Given the description of an element on the screen output the (x, y) to click on. 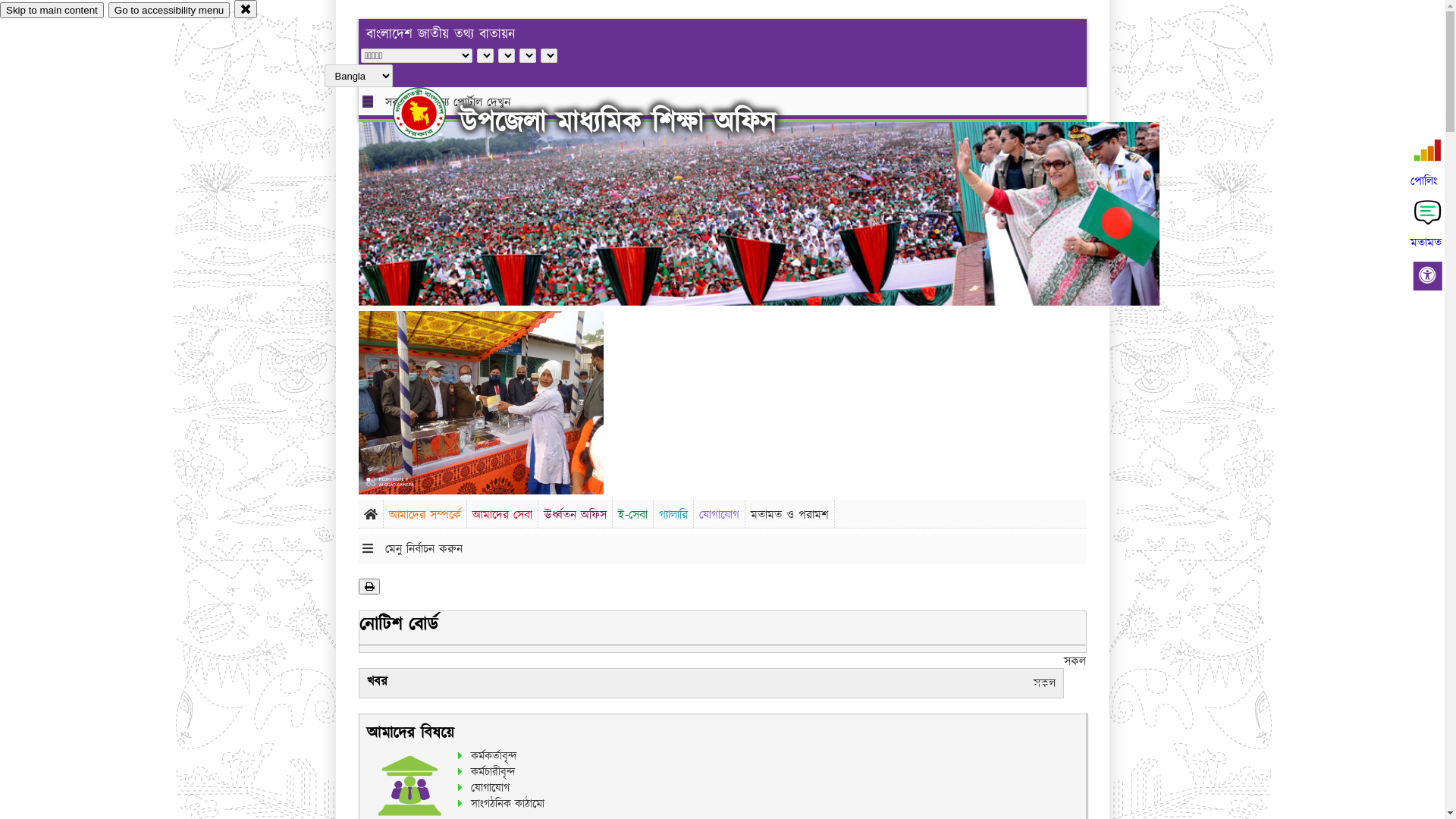
close Element type: hover (245, 9)
Skip to main content Element type: text (51, 10)
Go to accessibility menu Element type: text (168, 10)

                
             Element type: hover (431, 112)
